Given the description of an element on the screen output the (x, y) to click on. 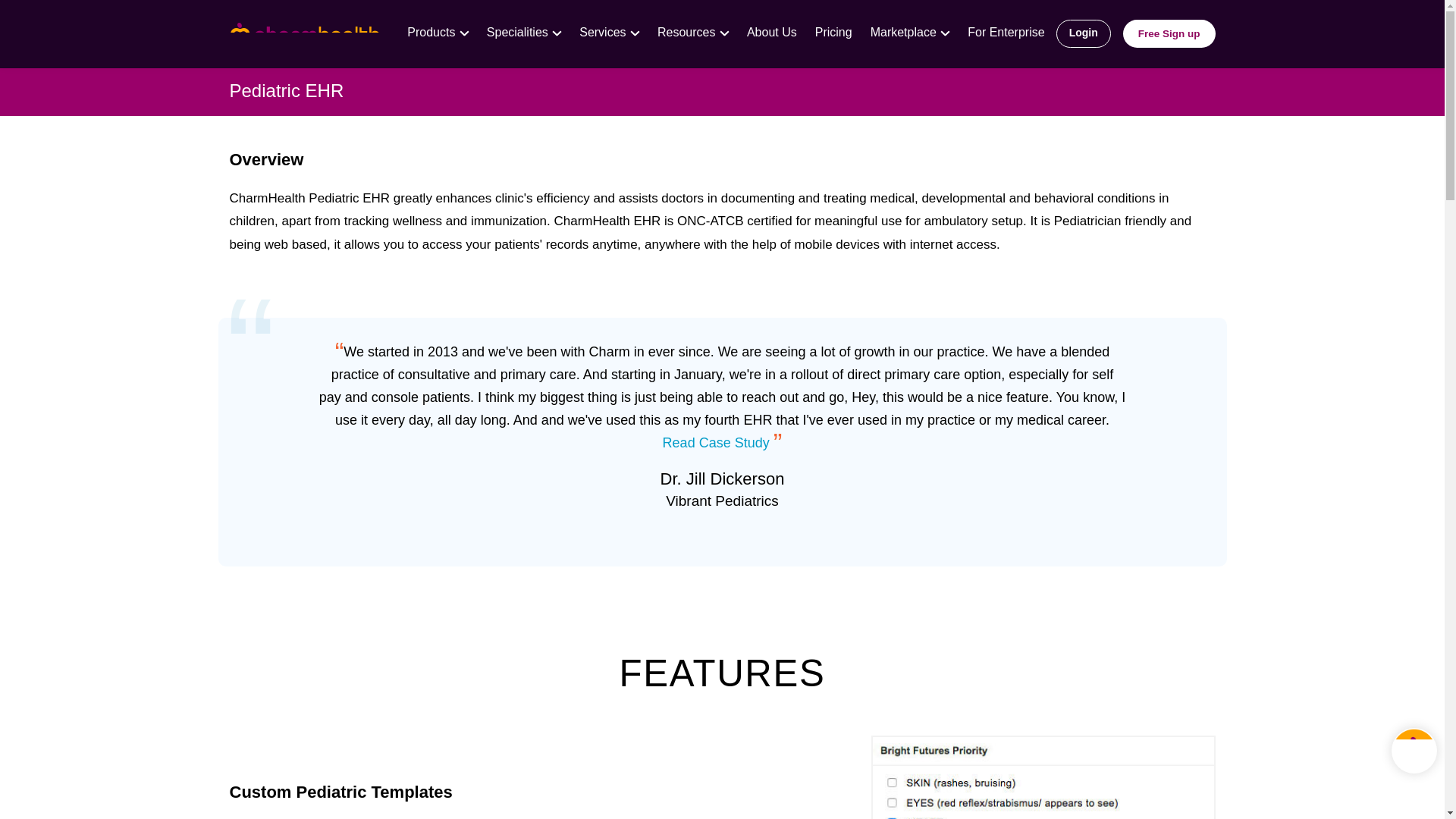
Pricing (833, 32)
Help (1414, 750)
AAP Bright Futures Templates (1042, 777)
Login (1087, 27)
Resources (688, 32)
Marketplace (905, 32)
Free Sign up (1168, 29)
Products (432, 32)
About Us (772, 32)
For Enterprise (1005, 32)
Services (604, 32)
Specialities (518, 32)
